Given the description of an element on the screen output the (x, y) to click on. 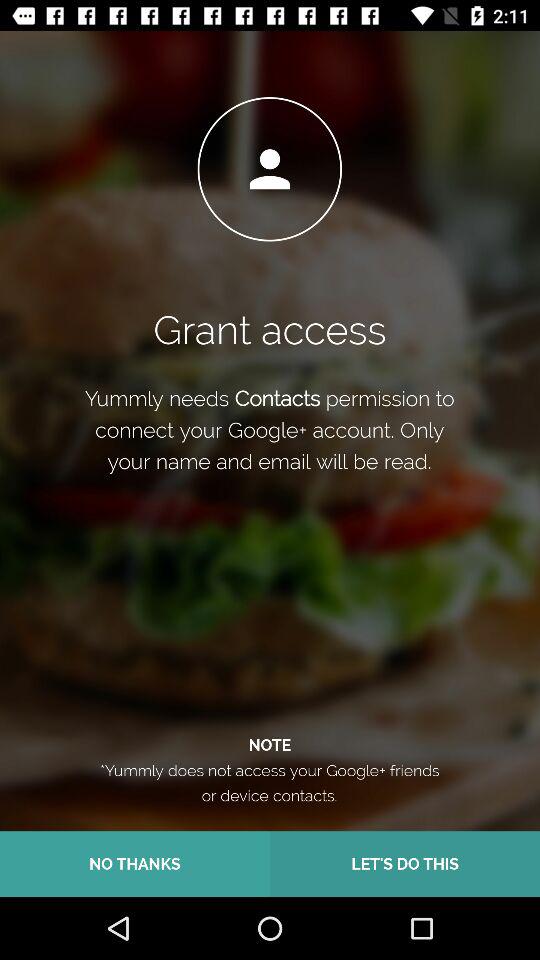
turn on no thanks (135, 863)
